Given the description of an element on the screen output the (x, y) to click on. 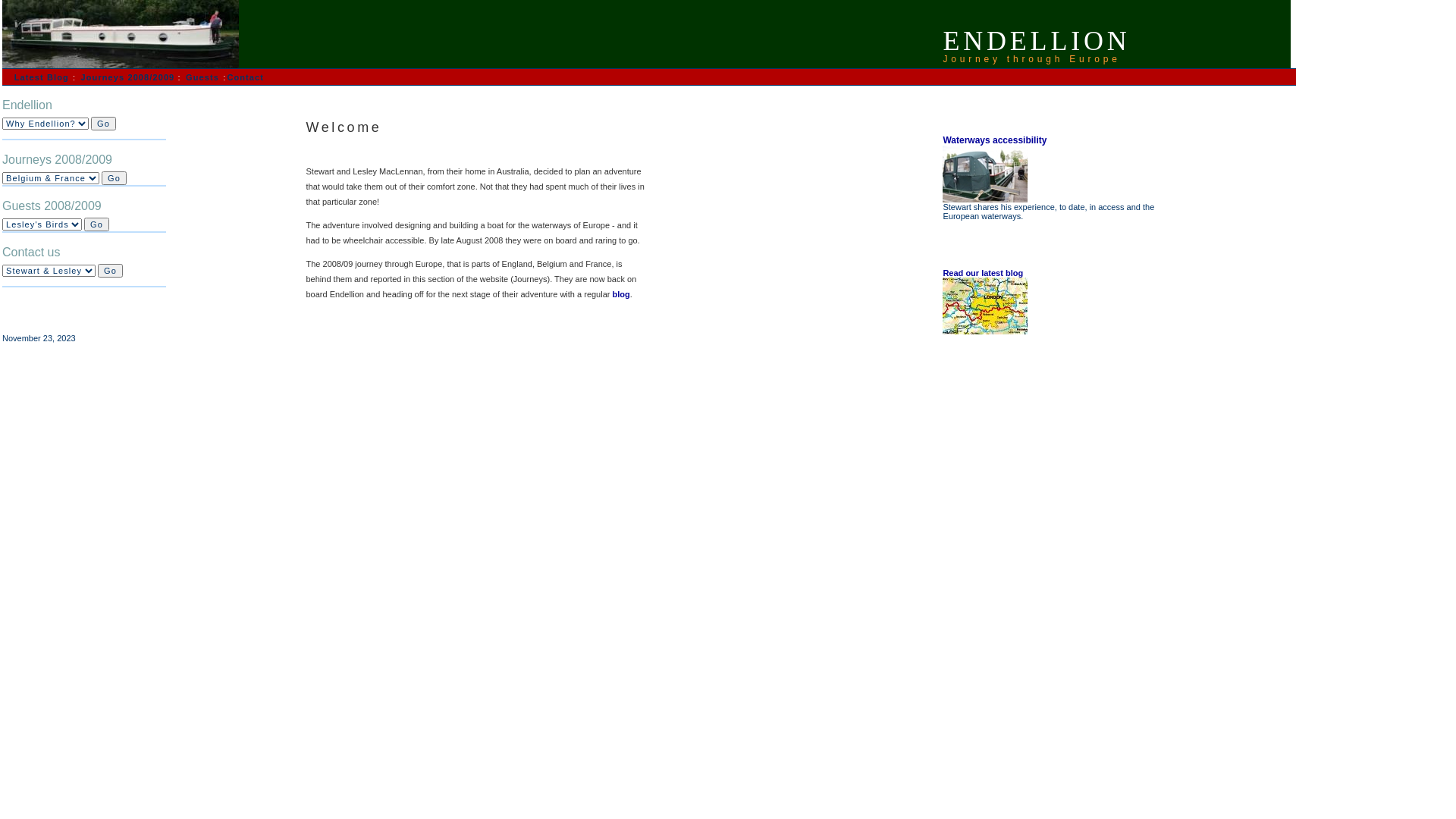
Go Element type: text (113, 178)
Go Element type: text (103, 123)
Guests Element type: text (202, 76)
Contact Element type: text (244, 76)
Go Element type: text (96, 224)
Latest Blog Element type: text (41, 76)
Read our latest blog Element type: text (982, 272)
Journeys 2008/2009 Element type: text (129, 76)
Go Element type: text (109, 270)
blog Element type: text (621, 293)
Waterways accessibility Element type: text (994, 139)
